Given the description of an element on the screen output the (x, y) to click on. 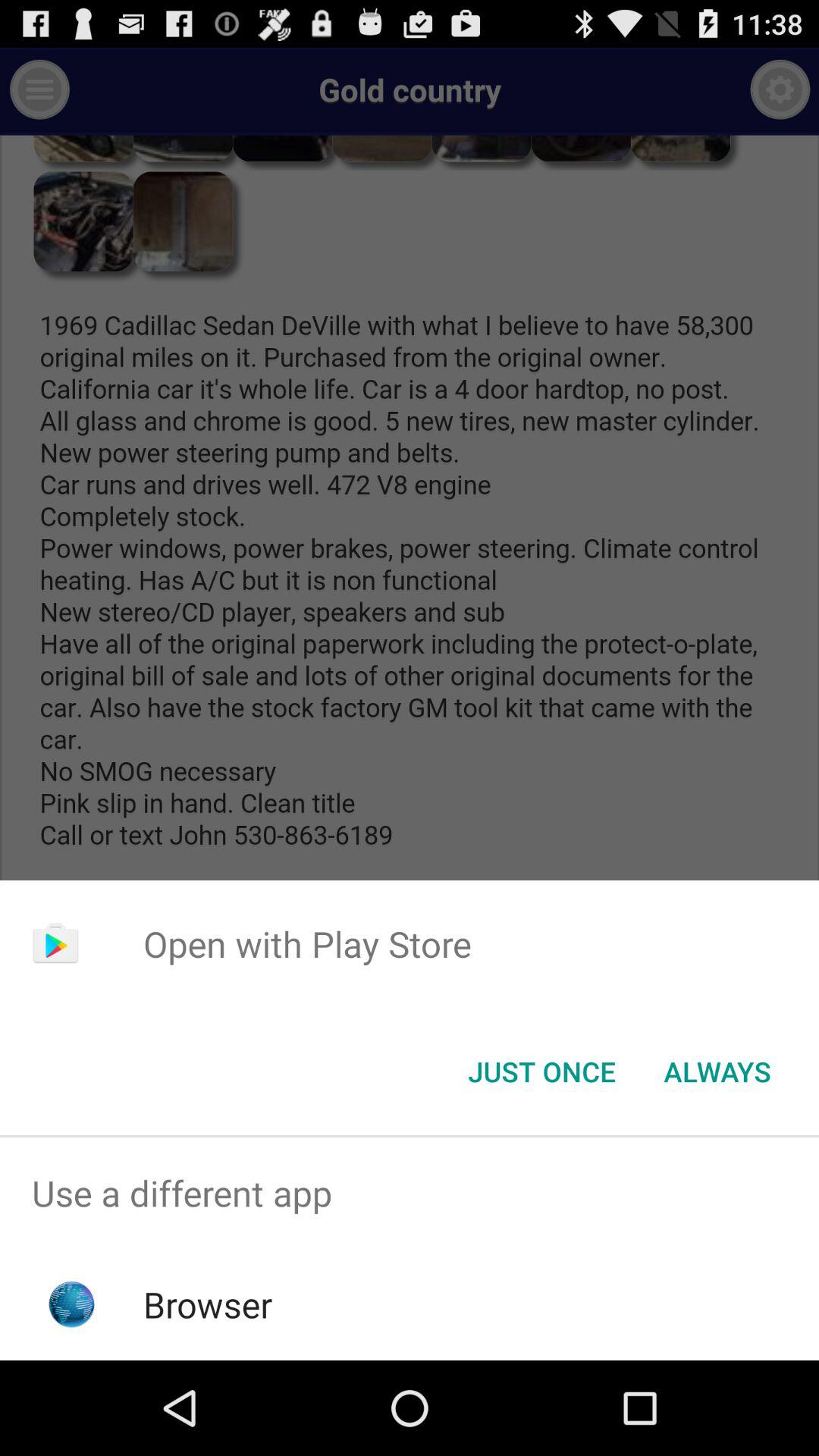
launch the app above browser icon (409, 1192)
